Given the description of an element on the screen output the (x, y) to click on. 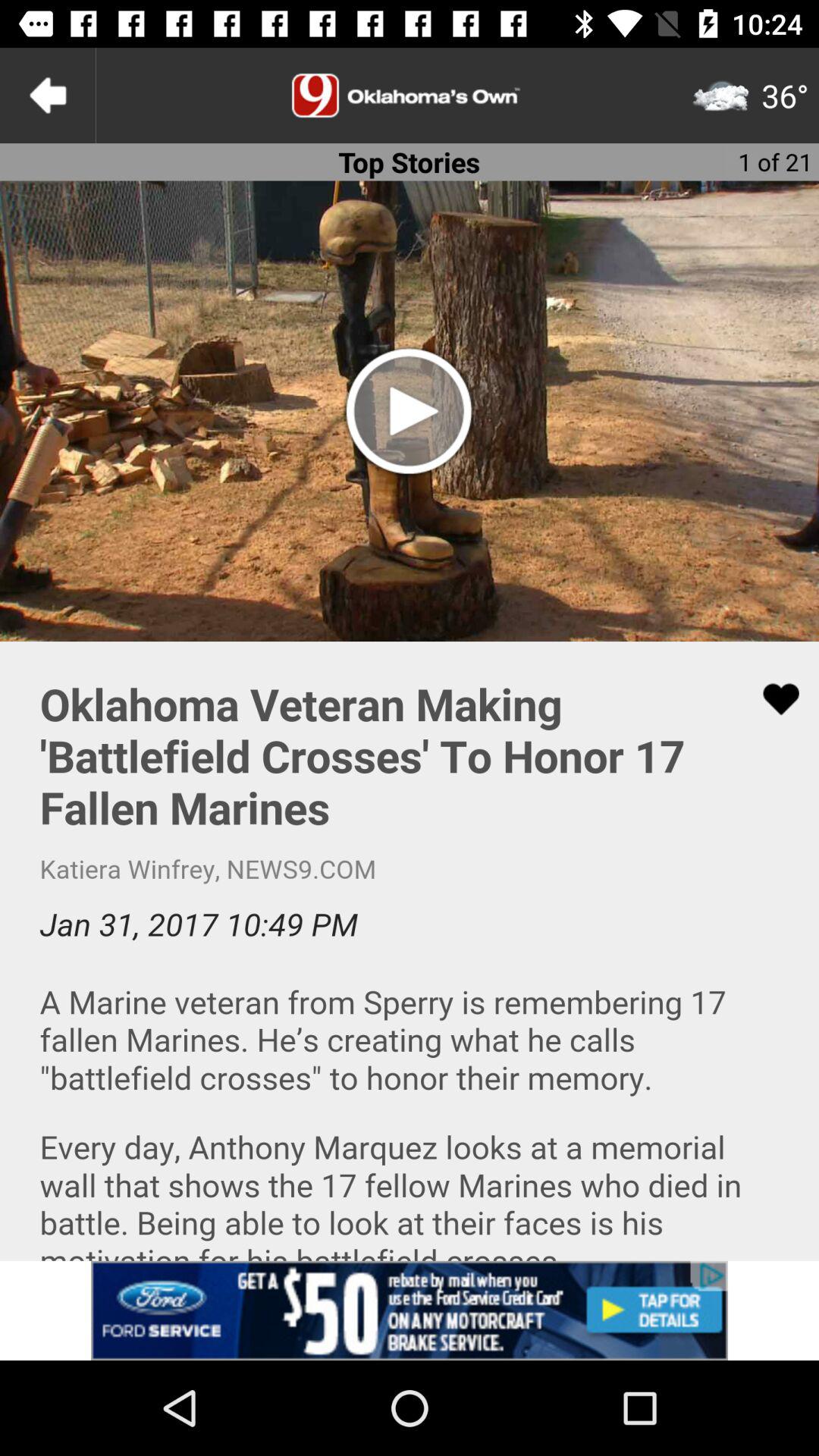
description about the video (409, 950)
